Given the description of an element on the screen output the (x, y) to click on. 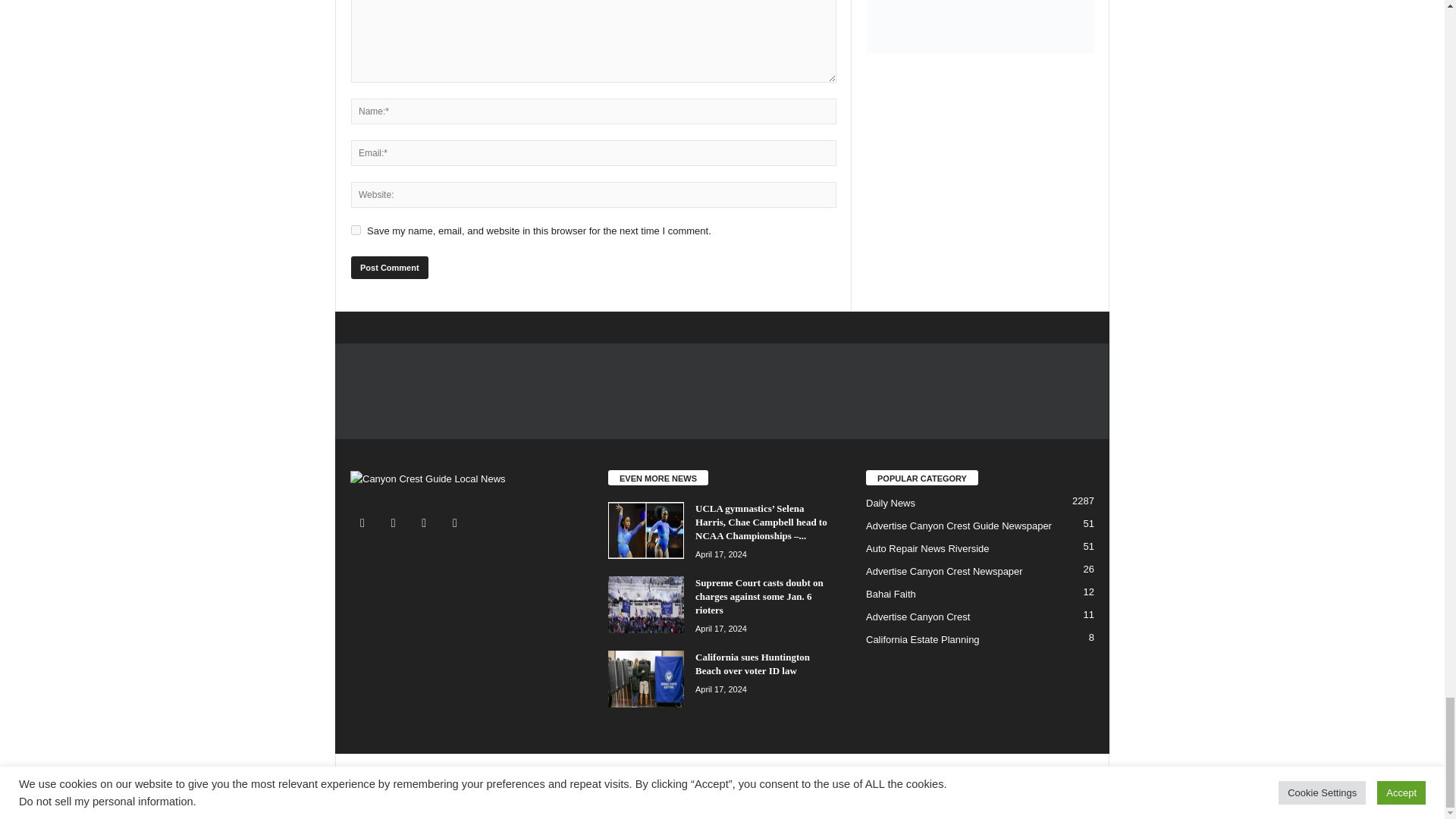
Post Comment (389, 267)
yes (355, 230)
